Given the description of an element on the screen output the (x, y) to click on. 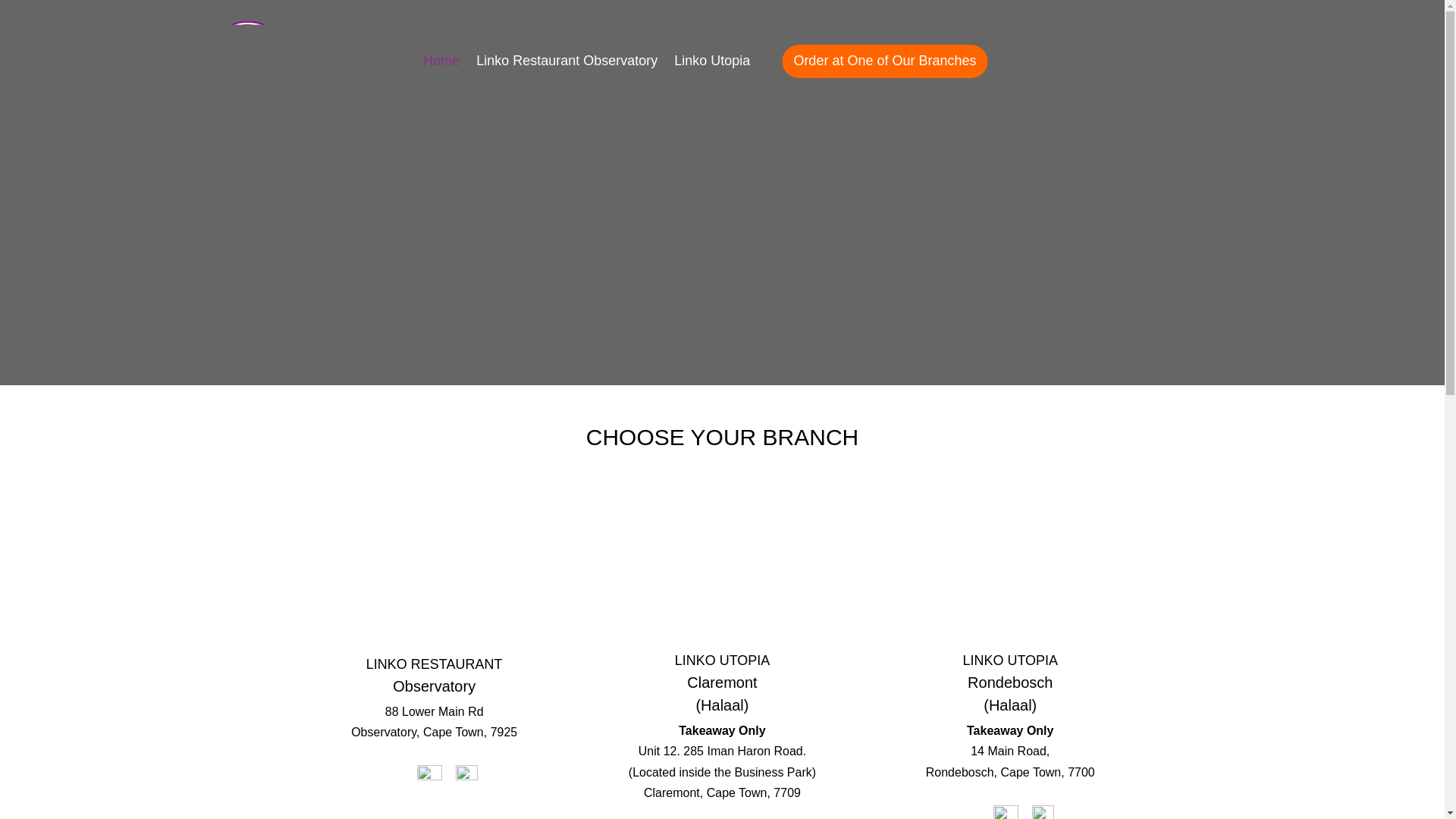
Linko Restaurant (248, 65)
Linko Restaurant Observatory (567, 68)
Order at One of Our Branches (884, 60)
Linko Utopia (719, 68)
Home (441, 68)
